Given the description of an element on the screen output the (x, y) to click on. 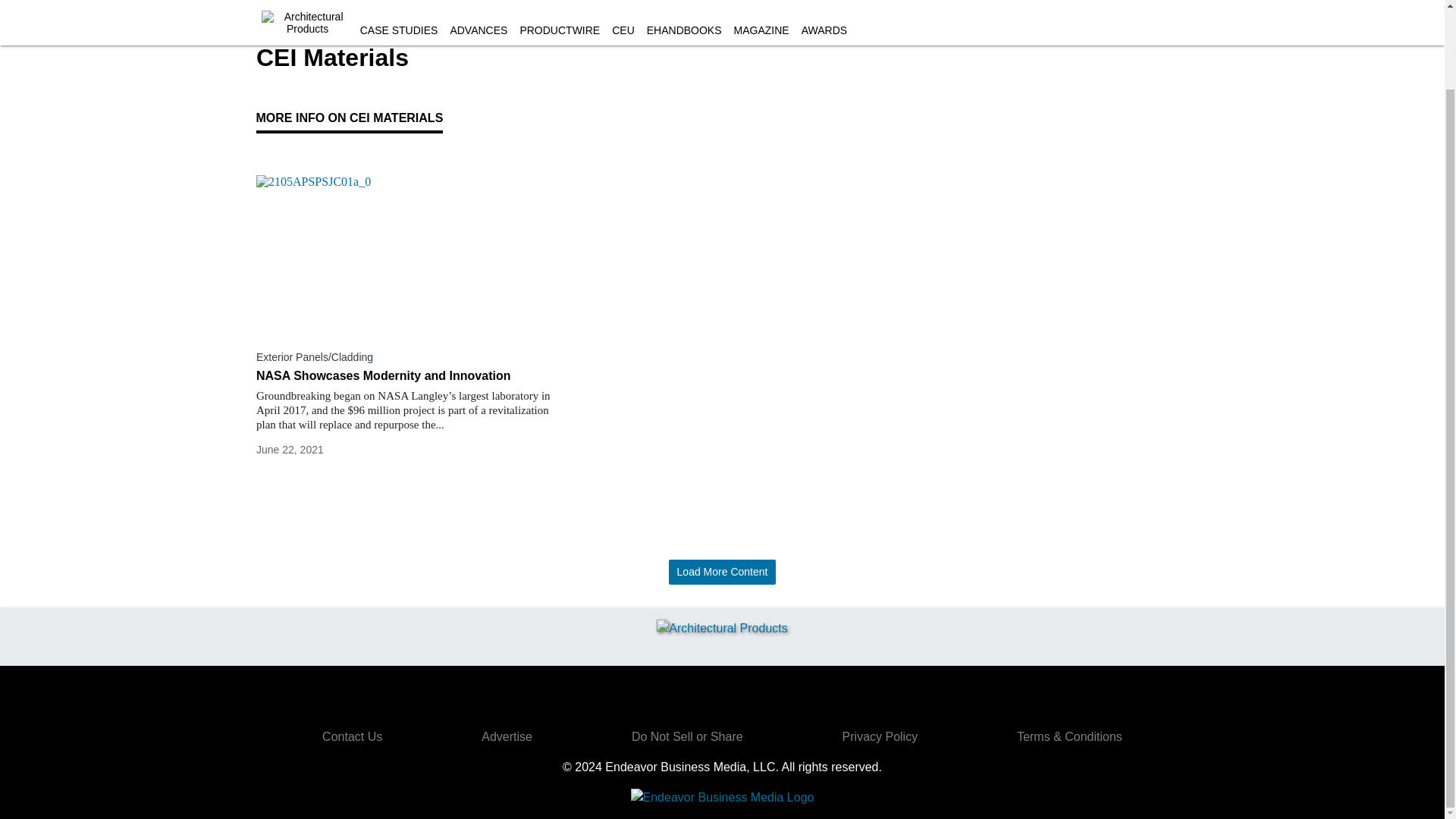
Advertise (506, 736)
Privacy Policy (880, 736)
Do Not Sell or Share (686, 736)
Contact Us (351, 736)
NASA Showcases Modernity and Innovation (405, 376)
Load More Content (722, 571)
